Given the description of an element on the screen output the (x, y) to click on. 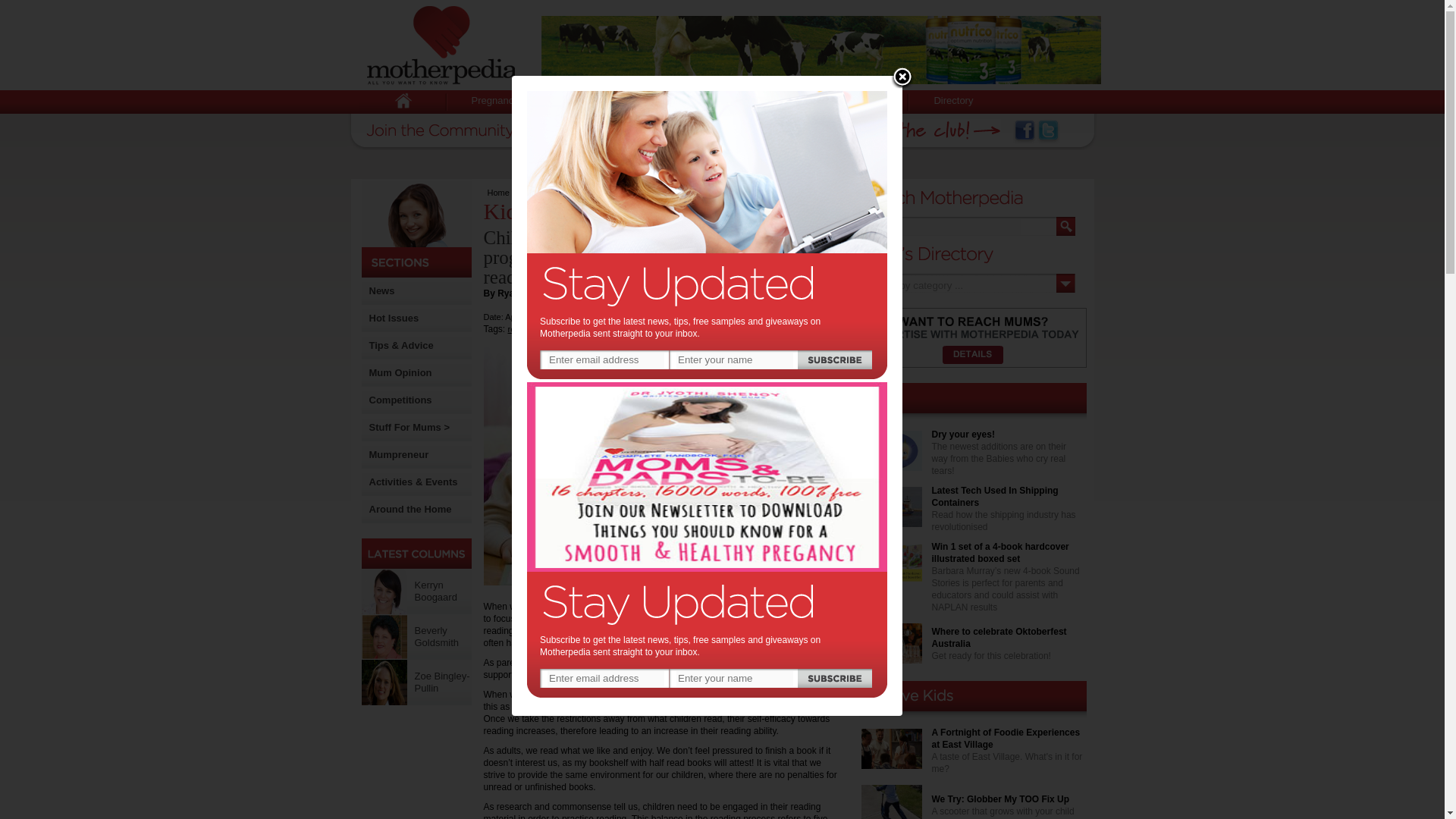
Kerryn Boogaard (435, 590)
Baby (582, 101)
Pregnancy (494, 101)
Zoe Bingley-Pullin (383, 682)
Enter Your Email Address (623, 130)
Competitions (399, 399)
Hot Issues (393, 317)
Directory (952, 101)
Child (657, 101)
Mum Opinion (399, 372)
All you want to know (441, 45)
News (381, 290)
Around the Home (409, 509)
Subscribe (806, 130)
Beverly Goldsmith (383, 637)
